Given the description of an element on the screen output the (x, y) to click on. 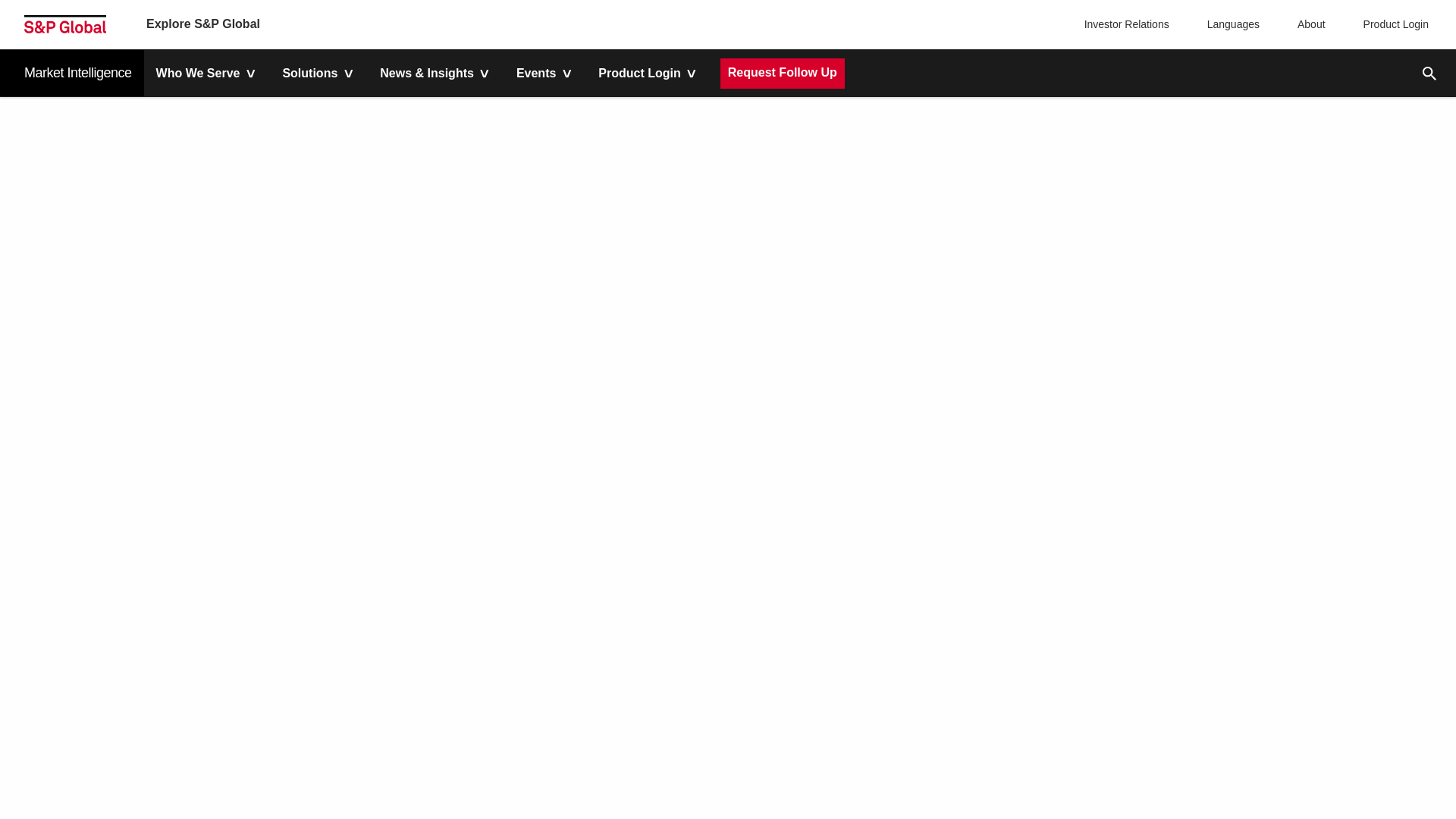
Product Login (1392, 24)
Investor Relations (1129, 24)
About (1307, 24)
Languages (1230, 24)
